Given the description of an element on the screen output the (x, y) to click on. 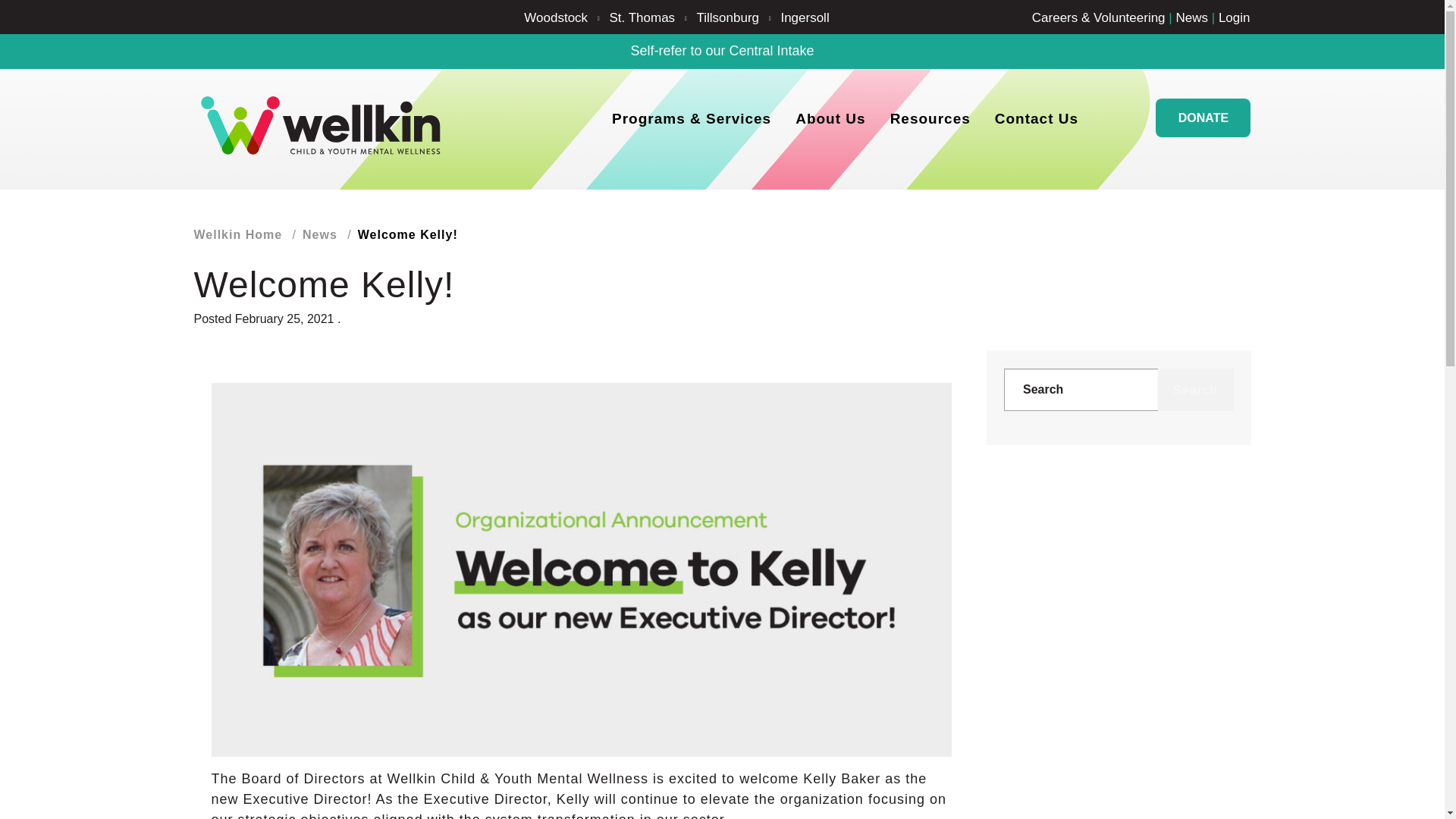
Search (1195, 389)
DONATE (1203, 117)
Search (1195, 389)
Resources (929, 117)
Wellkin Home (237, 236)
Page 2 (581, 360)
Wellkin Home Page (321, 125)
Contact Us (1036, 117)
Login (1234, 17)
About Us (830, 117)
Search field (1080, 389)
News (319, 236)
News (1191, 17)
